Given the description of an element on the screen output the (x, y) to click on. 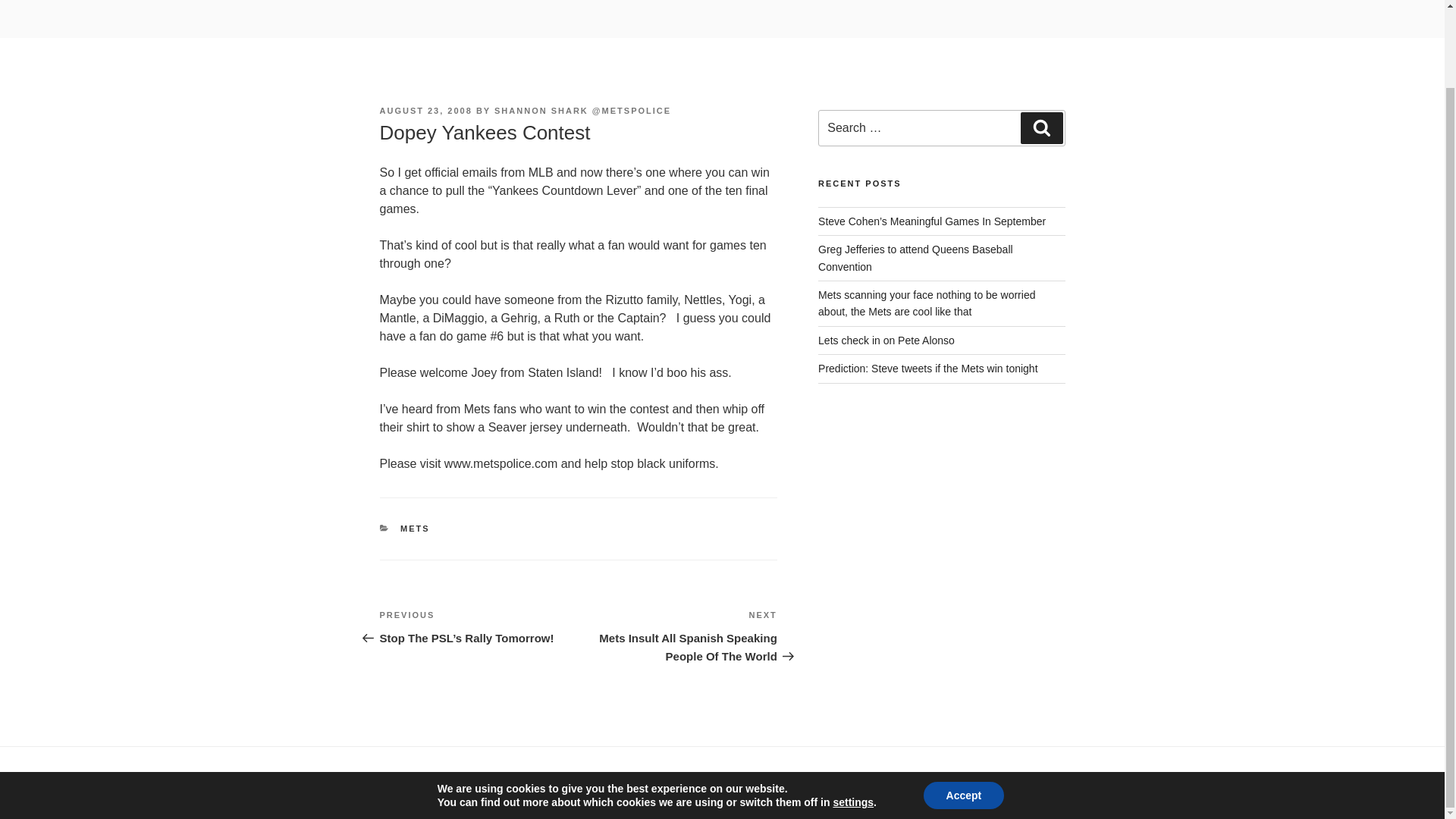
Greg Jefferies to attend Queens Baseball Convention (915, 257)
Accept (963, 707)
Search (1041, 128)
Prediction: Steve tweets if the Mets win tonight (927, 368)
Privacy Policy (407, 784)
AUGUST 23, 2008 (424, 110)
METS (414, 528)
Proudly powered by WordPress (527, 784)
Lets check in on Pete Alonso (886, 340)
